Given the description of an element on the screen output the (x, y) to click on. 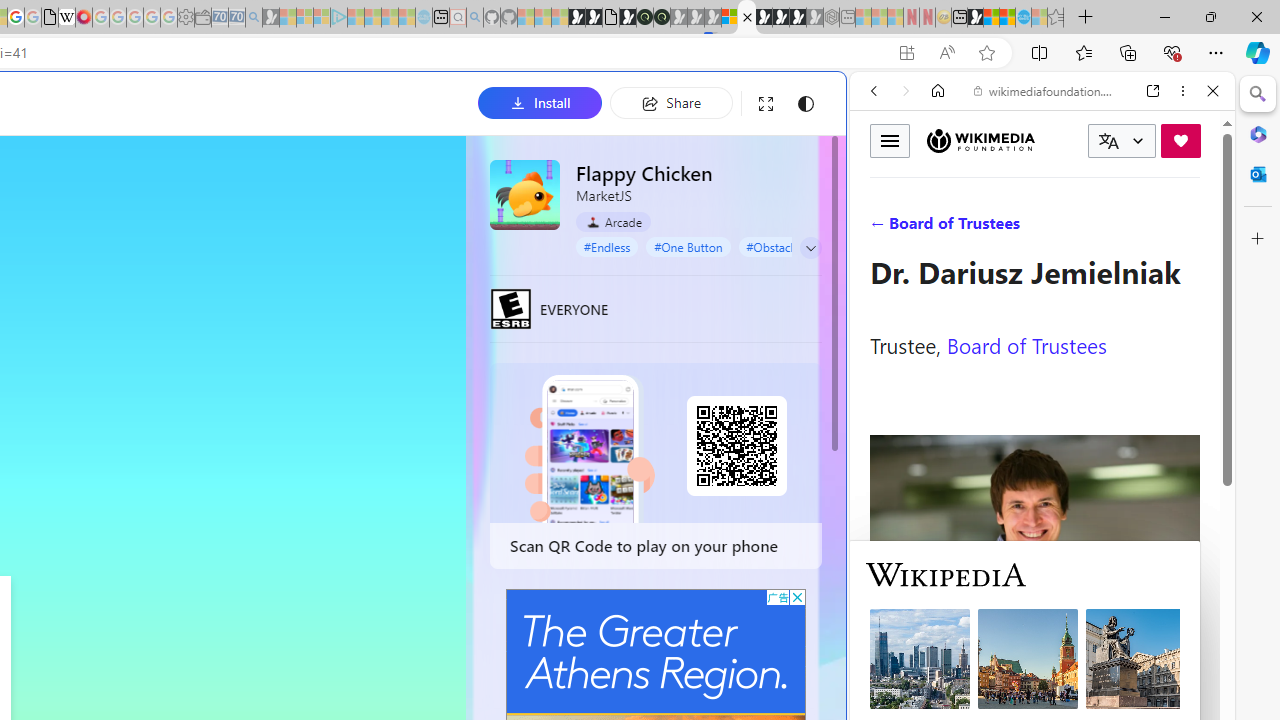
Change to dark mode (805, 103)
Global web icon (888, 669)
This site scope (936, 180)
wikimediafoundation.org (1045, 90)
Future Focus Report 2024 (661, 17)
Wallet - Sleeping (202, 17)
#Obstacle Course (792, 246)
Earth has six continents not seven, radical new study claims (1007, 17)
